Given the description of an element on the screen output the (x, y) to click on. 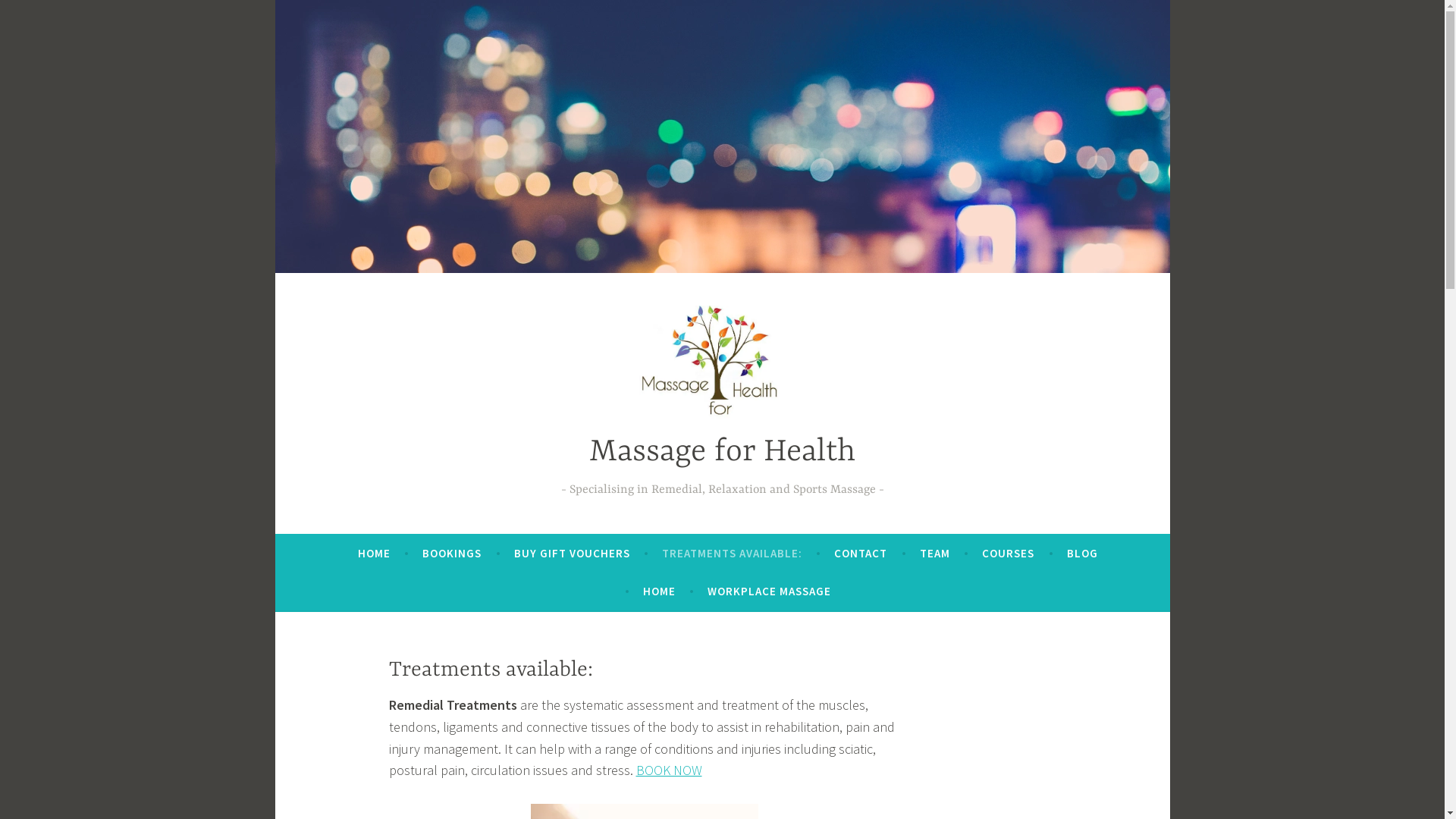
COURSES Element type: text (1008, 553)
TREATMENTS AVAILABLE: Element type: text (732, 553)
TEAM Element type: text (934, 553)
BOOKINGS Element type: text (451, 553)
BLOG Element type: text (1082, 553)
BUY GIFT VOUCHERS Element type: text (572, 553)
BOOK NOW Element type: text (668, 769)
HOME Element type: text (659, 591)
Search Element type: text (33, 15)
WORKPLACE MASSAGE Element type: text (769, 591)
HOME Element type: text (373, 553)
CONTACT Element type: text (860, 553)
Massage for Health Element type: text (722, 452)
